Given the description of an element on the screen output the (x, y) to click on. 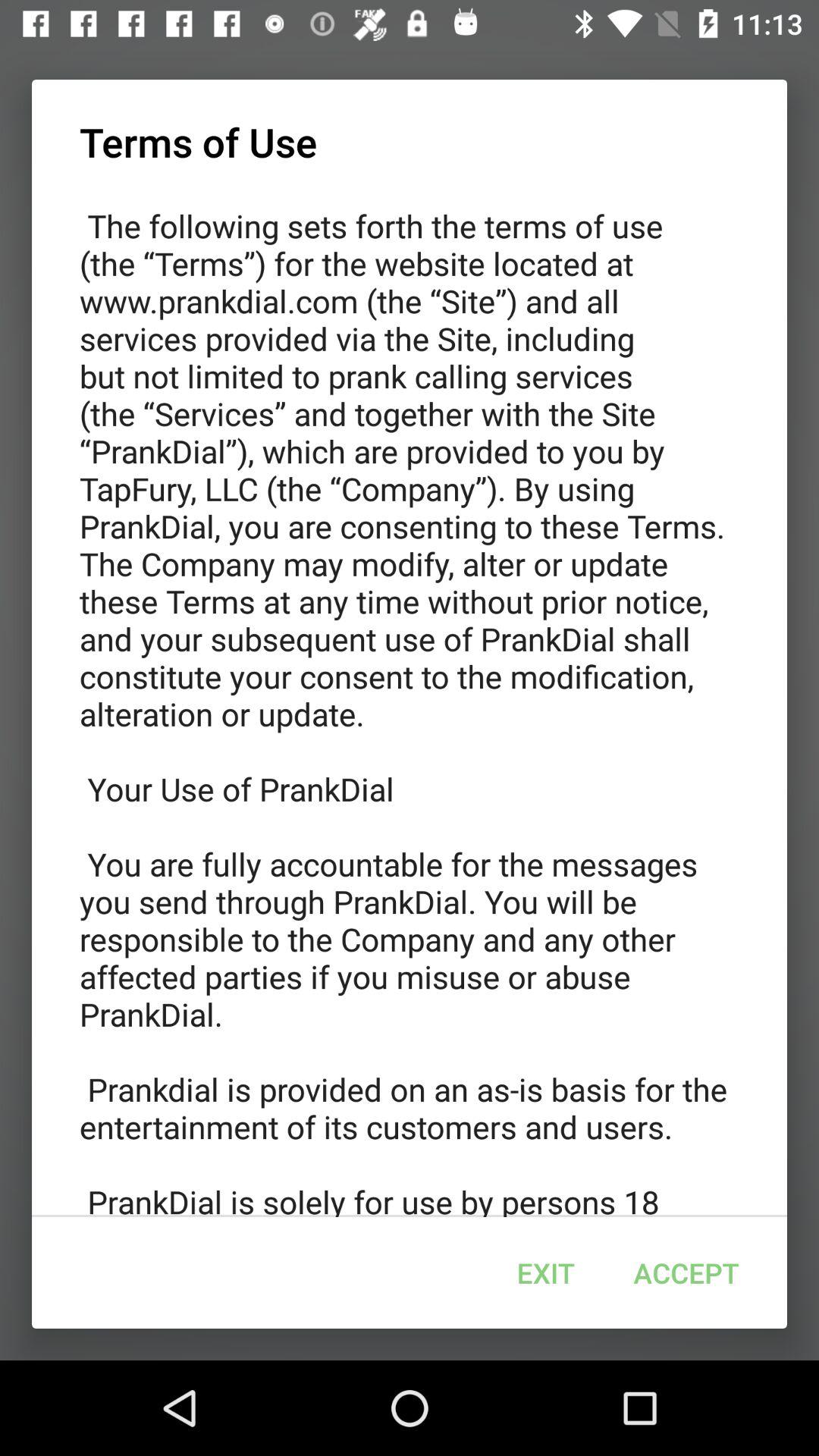
flip to exit (545, 1272)
